Given the description of an element on the screen output the (x, y) to click on. 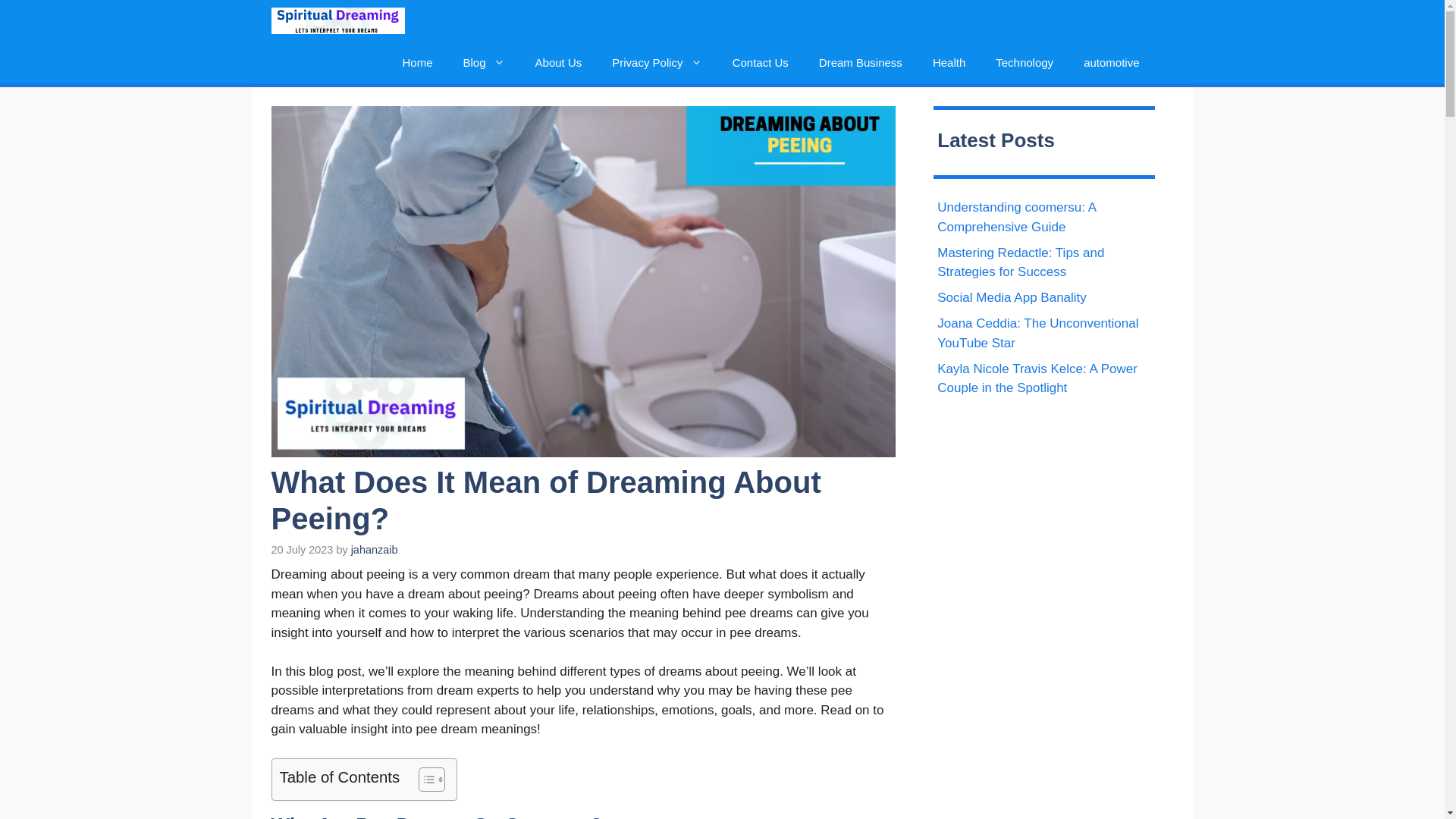
Spiritual Dreaming (337, 20)
Blog (483, 62)
automotive (1111, 62)
Technology (1023, 62)
Health (948, 62)
Home (417, 62)
Privacy Policy (656, 62)
Dream Business (860, 62)
View all posts by jahanzaib (373, 549)
jahanzaib (373, 549)
About Us (557, 62)
Contact Us (760, 62)
